Given the description of an element on the screen output the (x, y) to click on. 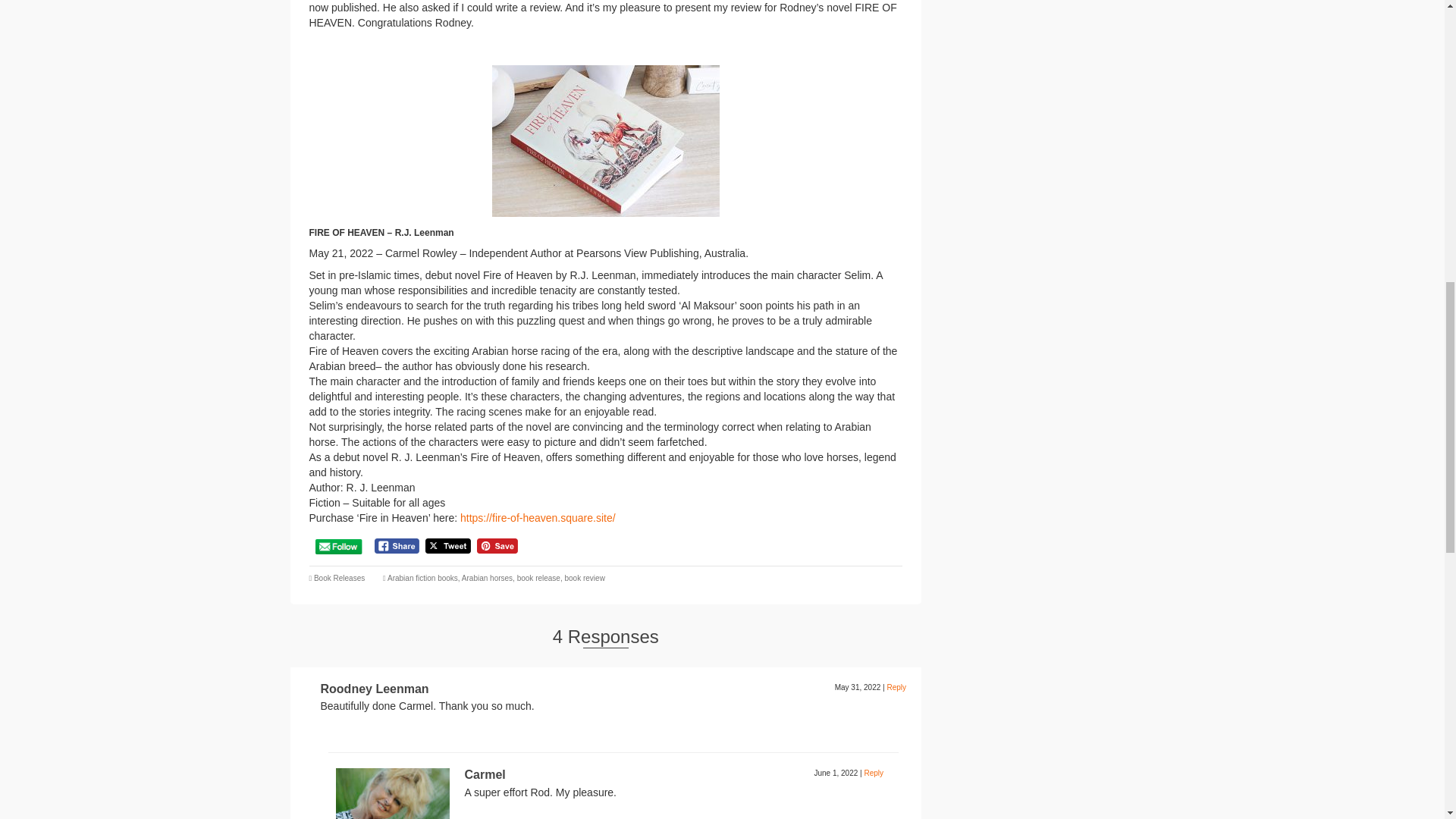
Reply (873, 773)
Tweet (447, 545)
Pin Share (497, 545)
Facebook Share (396, 545)
Book Releases (339, 578)
Arabian horses (486, 578)
Reply (895, 687)
book release (538, 578)
Arabian fiction books (422, 578)
book review (584, 578)
